Given the description of an element on the screen output the (x, y) to click on. 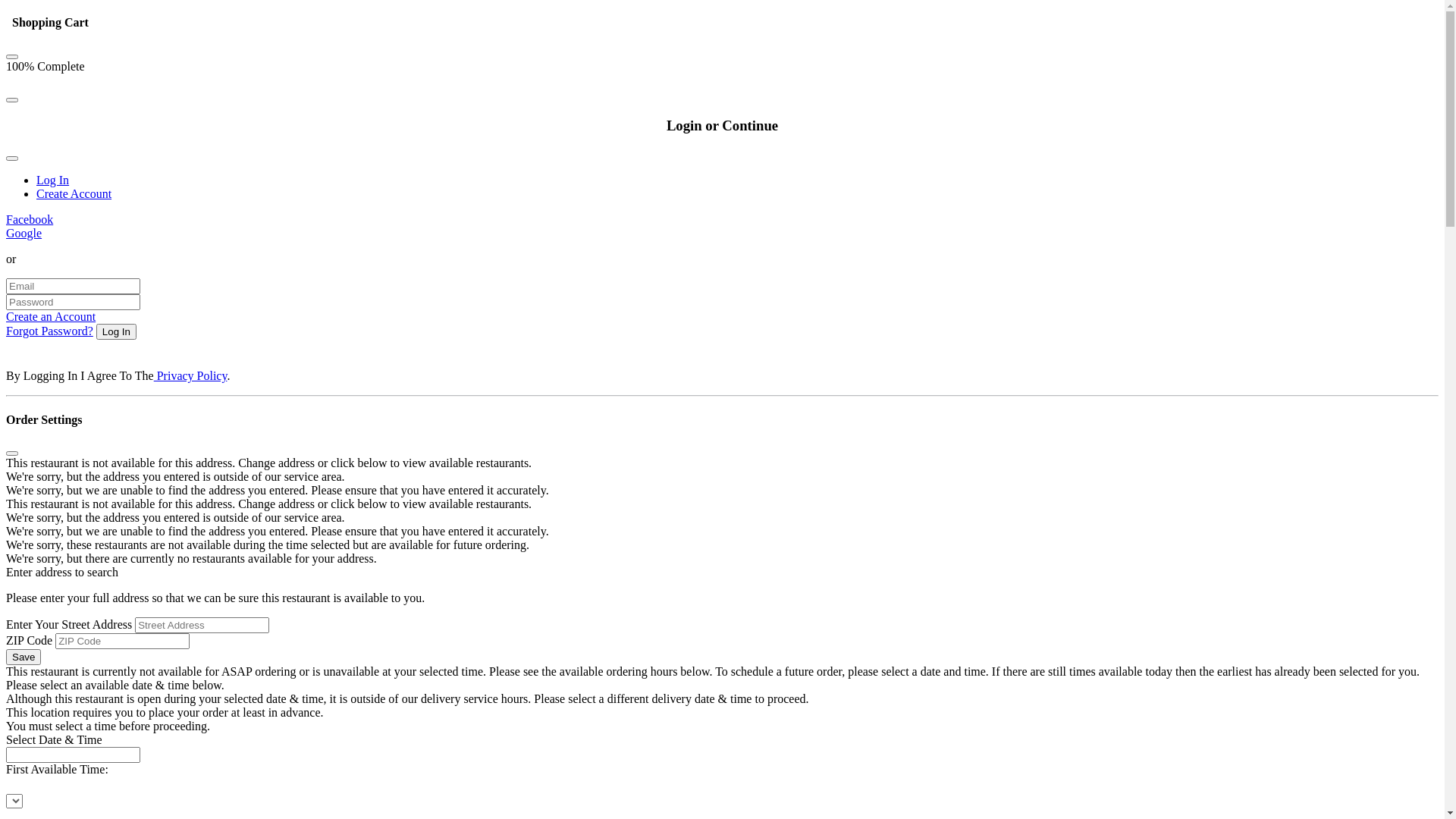
Log In Element type: text (116, 331)
Create an Account Element type: text (50, 316)
Facebook Element type: text (29, 219)
Google Element type: text (23, 232)
Log In Element type: text (52, 179)
Forgot Password? Element type: text (49, 331)
Save Element type: text (23, 657)
Privacy Policy Element type: text (190, 375)
Create Account Element type: text (73, 193)
